Given the description of an element on the screen output the (x, y) to click on. 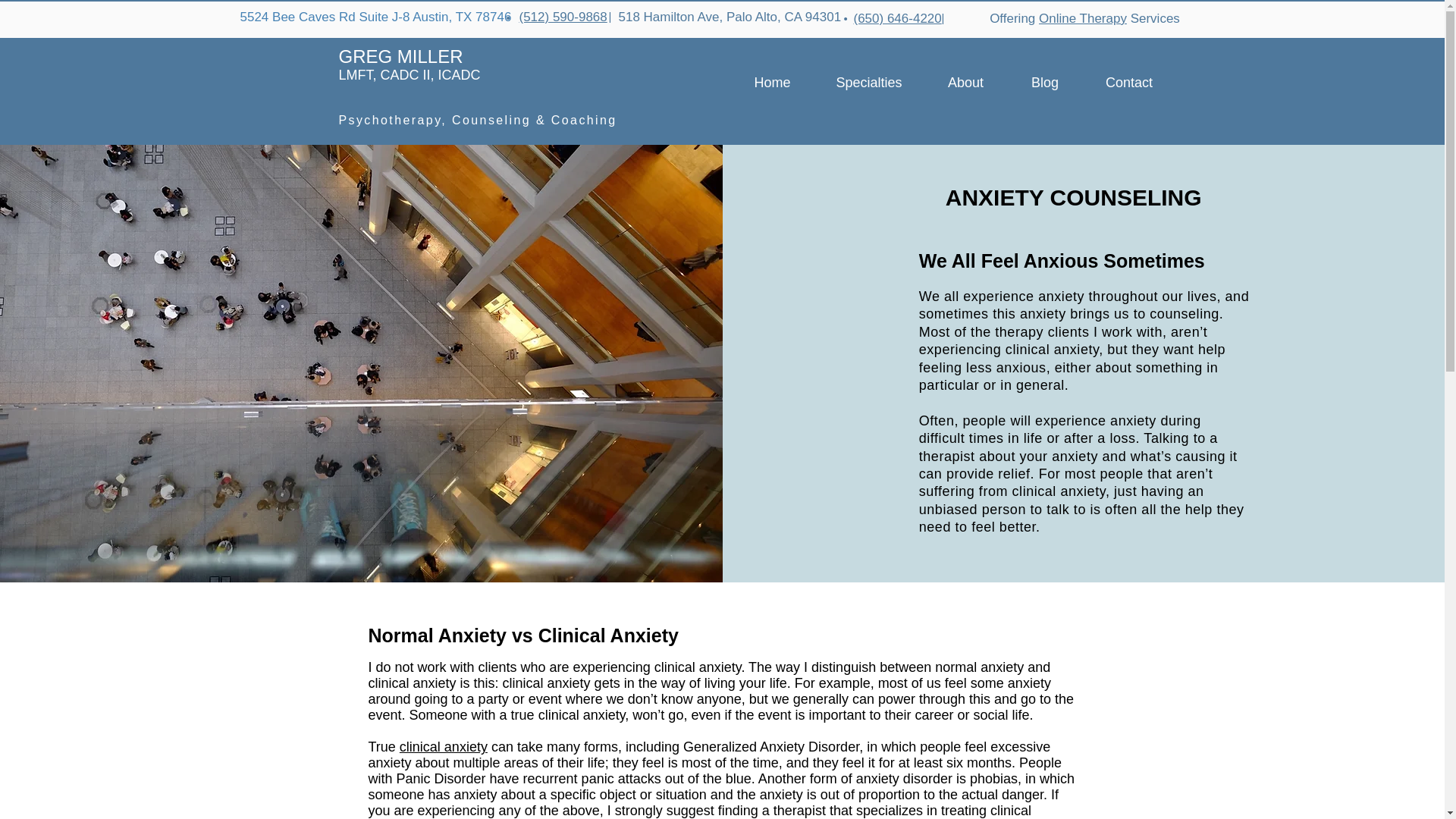
About (965, 82)
Home (771, 82)
LMFT, CADC II, ICADC (408, 74)
GREG MILLER  (402, 55)
clinical anxiety (442, 746)
Specialties (868, 82)
Contact (1129, 82)
Blog (1044, 82)
Online Therapy (1082, 18)
